Given the description of an element on the screen output the (x, y) to click on. 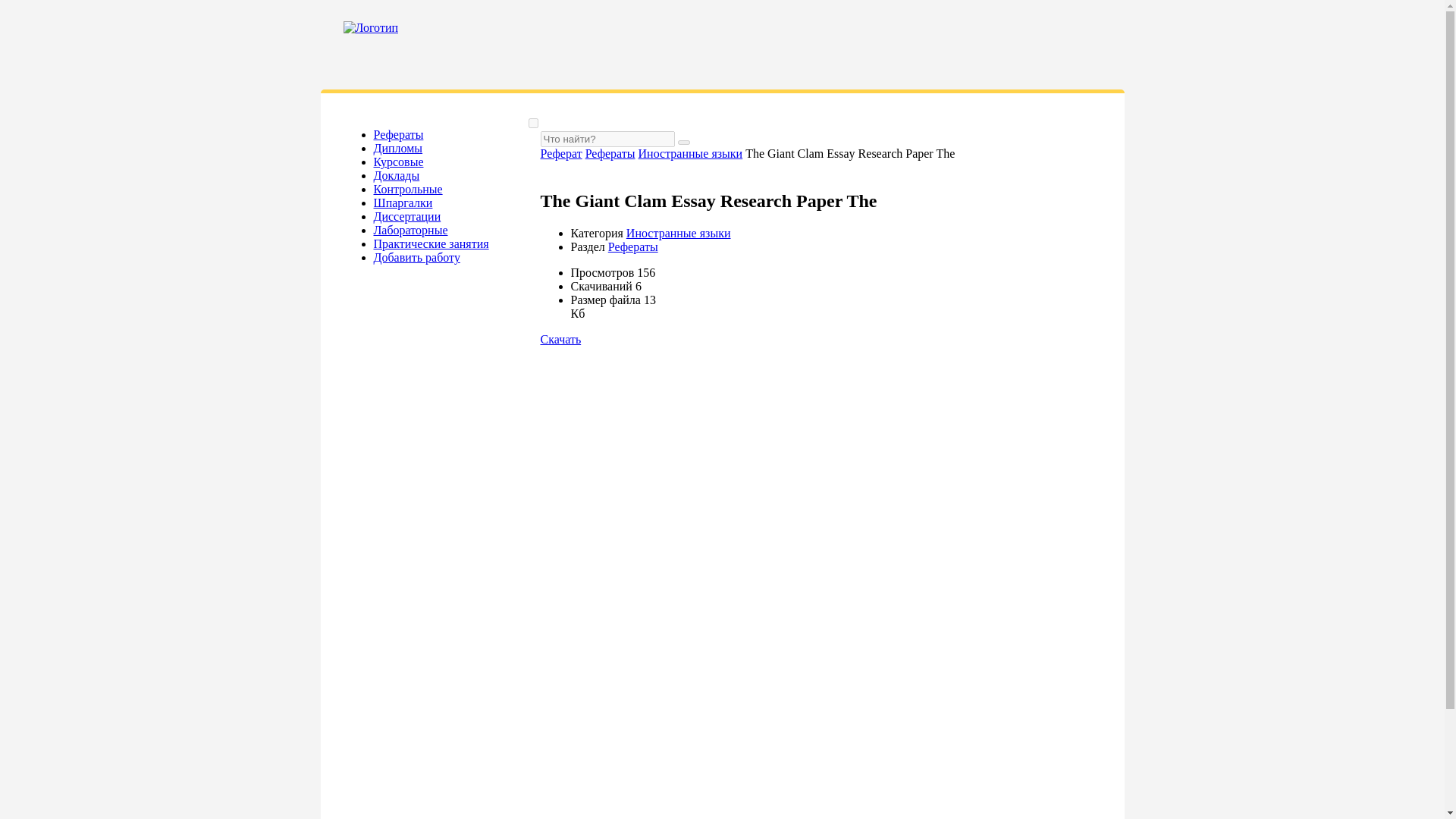
on (532, 122)
